Given the description of an element on the screen output the (x, y) to click on. 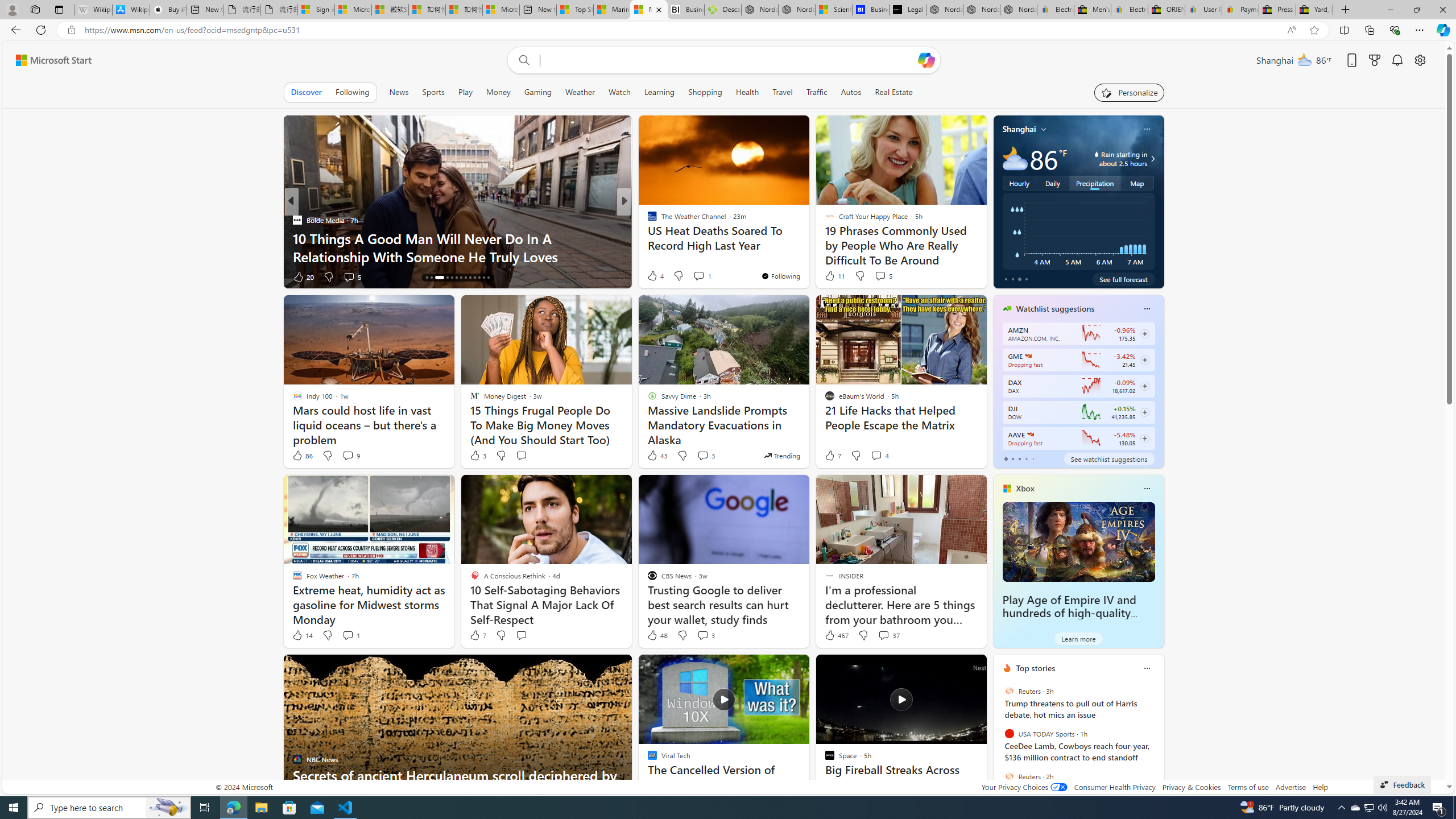
View comments 9 Comment (347, 455)
Skip to footer (46, 59)
View comments 53 Comment (707, 276)
Terms of use (1247, 786)
Yard, Garden & Outdoor Living (1314, 9)
Consumer Health Privacy (1115, 786)
Top stories (1035, 668)
Electronics, Cars, Fashion, Collectibles & More | eBay (1129, 9)
spot on news (647, 238)
AutomationID: tab-17 (443, 277)
Watch (619, 92)
